Given the description of an element on the screen output the (x, y) to click on. 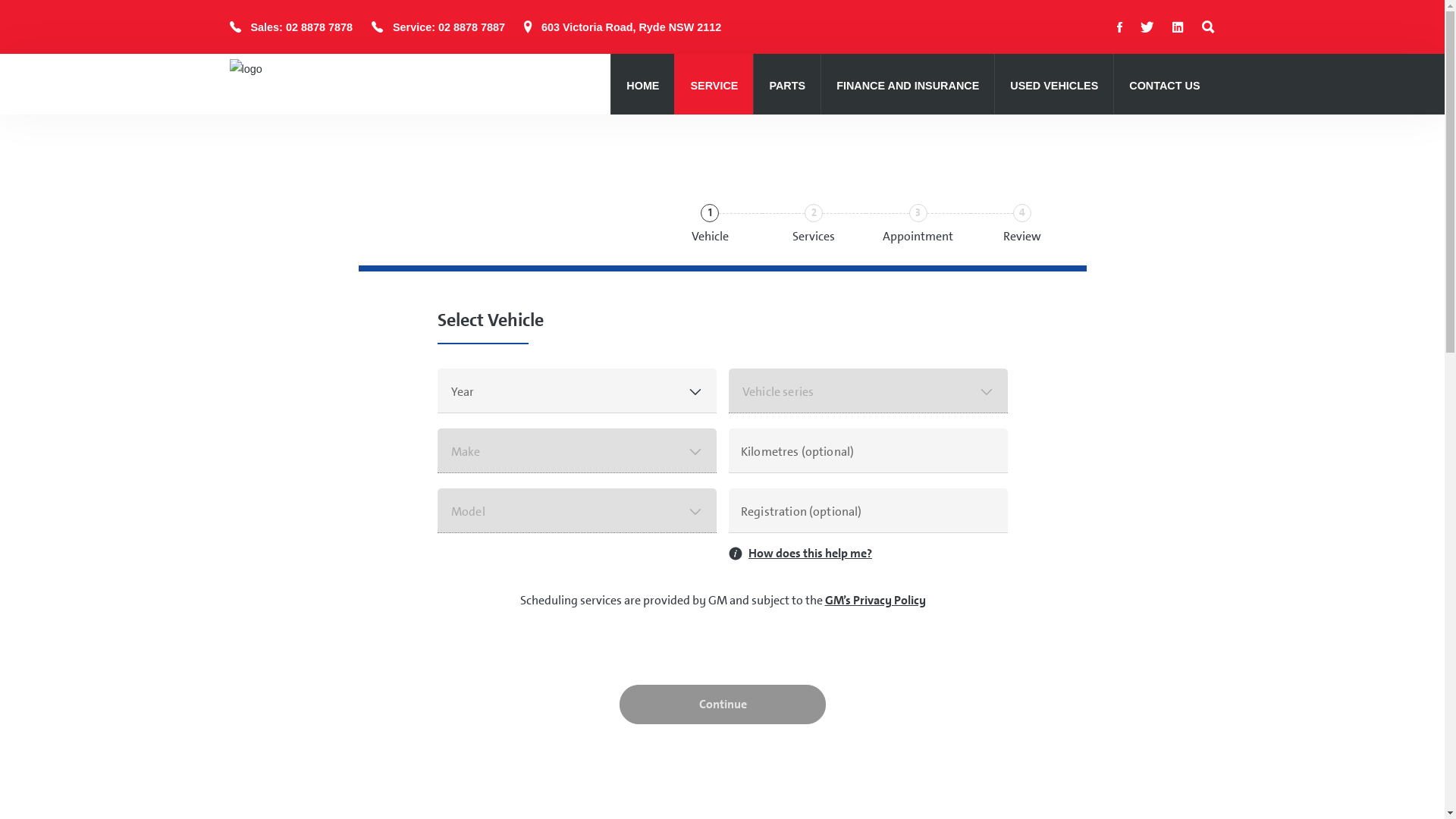
CONTACT US Element type: text (1164, 85)
USED VEHICLES Element type: text (1054, 85)
FINANCE AND INSURANCE Element type: text (907, 85)
PARTS Element type: text (786, 85)
PARTS Element type: text (786, 85)
Sales: 02 8878 7878 Element type: text (300, 27)
HOME Element type: text (642, 85)
CONTACT US Element type: text (1164, 85)
Service: 02 8878 7887 Element type: text (448, 27)
SERVICE Element type: text (713, 85)
FINANCE AND INSURANCE Element type: text (907, 85)
USED VEHICLES Element type: text (1054, 85)
SERVICE Element type: text (713, 85)
HOME Element type: text (642, 85)
